Given the description of an element on the screen output the (x, y) to click on. 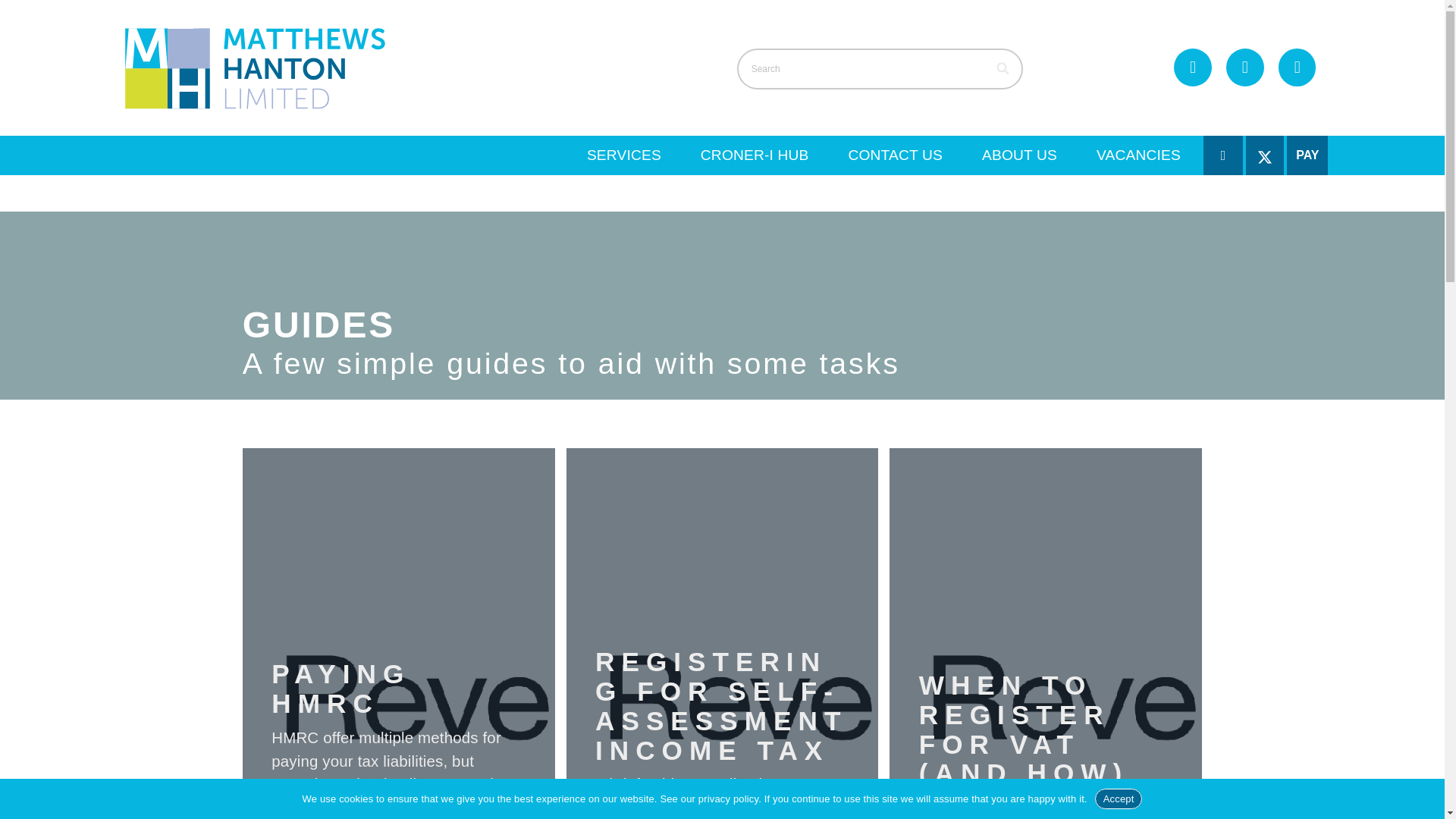
CRONER-I HUB (754, 155)
01243 861521 (1192, 67)
Matthews Hanton logo - landscape-01 (254, 67)
VACANCIES (1138, 155)
PAY (1307, 155)
Location (1297, 67)
SERVICES (624, 155)
CONTACT US (895, 155)
Email (1244, 67)
Search (879, 68)
